Given the description of an element on the screen output the (x, y) to click on. 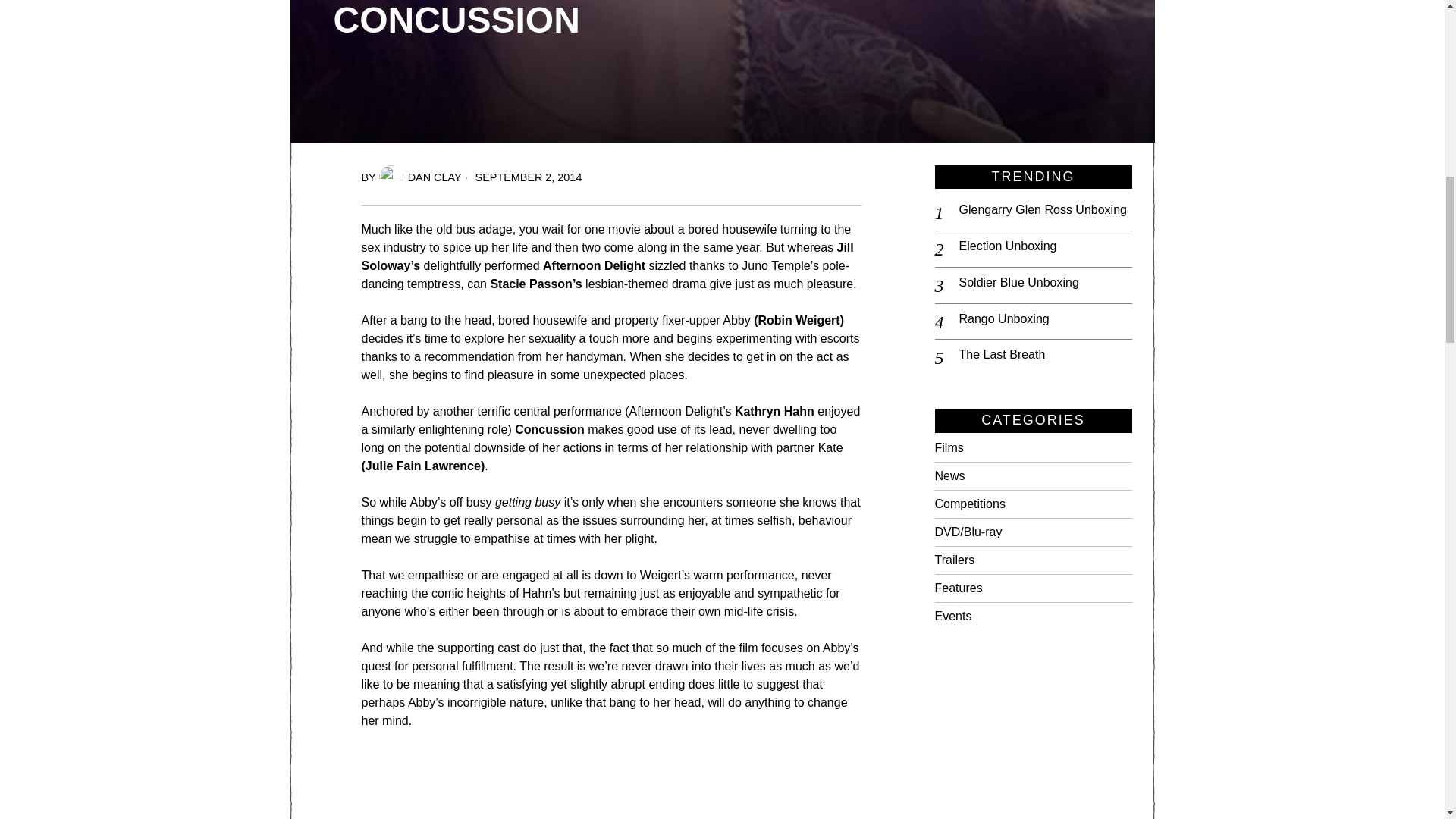
Glengarry Glen Ross Unboxing (1044, 210)
Election Unboxing (1044, 246)
Events (952, 615)
02 Sep, 2014 11:11:40 (521, 177)
Events (952, 615)
The Last Breath (1044, 355)
Soldier Blue Unboxing (1044, 283)
Trailers (954, 559)
Features (957, 587)
DAN CLAY (419, 177)
Competitions (969, 503)
News (948, 475)
Rango Unboxing (1044, 319)
Films (1396, 22)
